Given the description of an element on the screen output the (x, y) to click on. 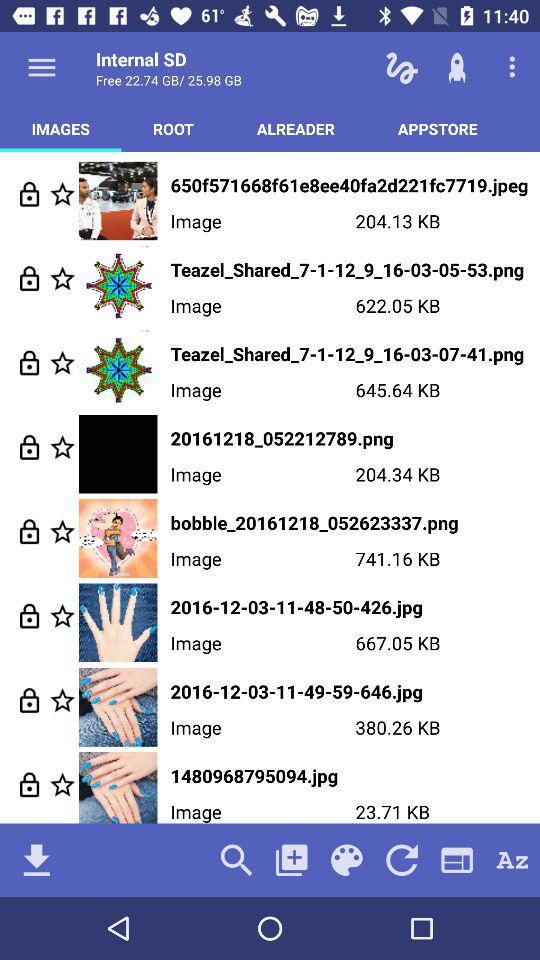
favorite this image (62, 193)
